Given the description of an element on the screen output the (x, y) to click on. 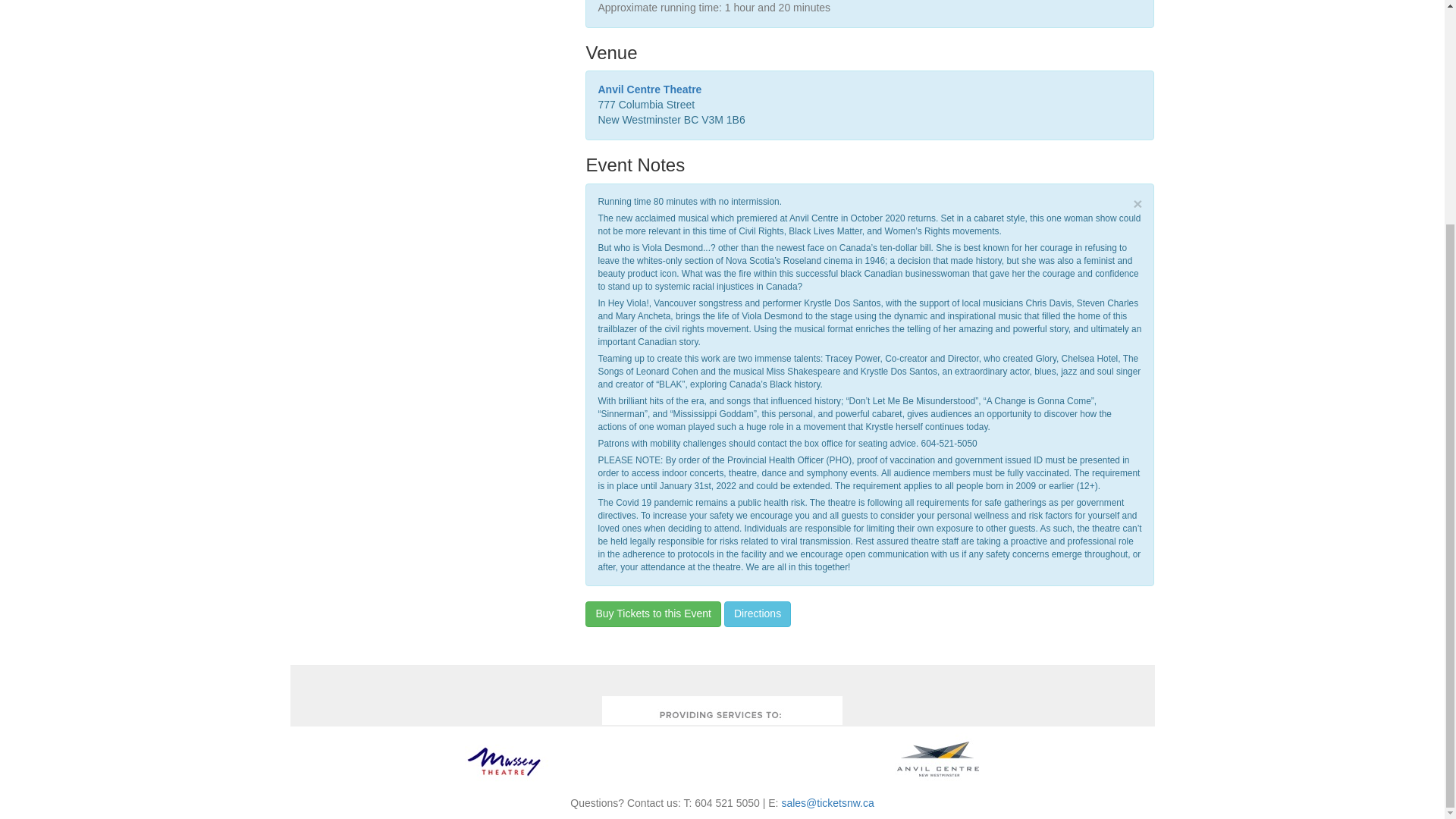
Directions (756, 614)
Buy Tickets to this Event (652, 614)
Anvil Centre Theatre (648, 89)
